Given the description of an element on the screen output the (x, y) to click on. 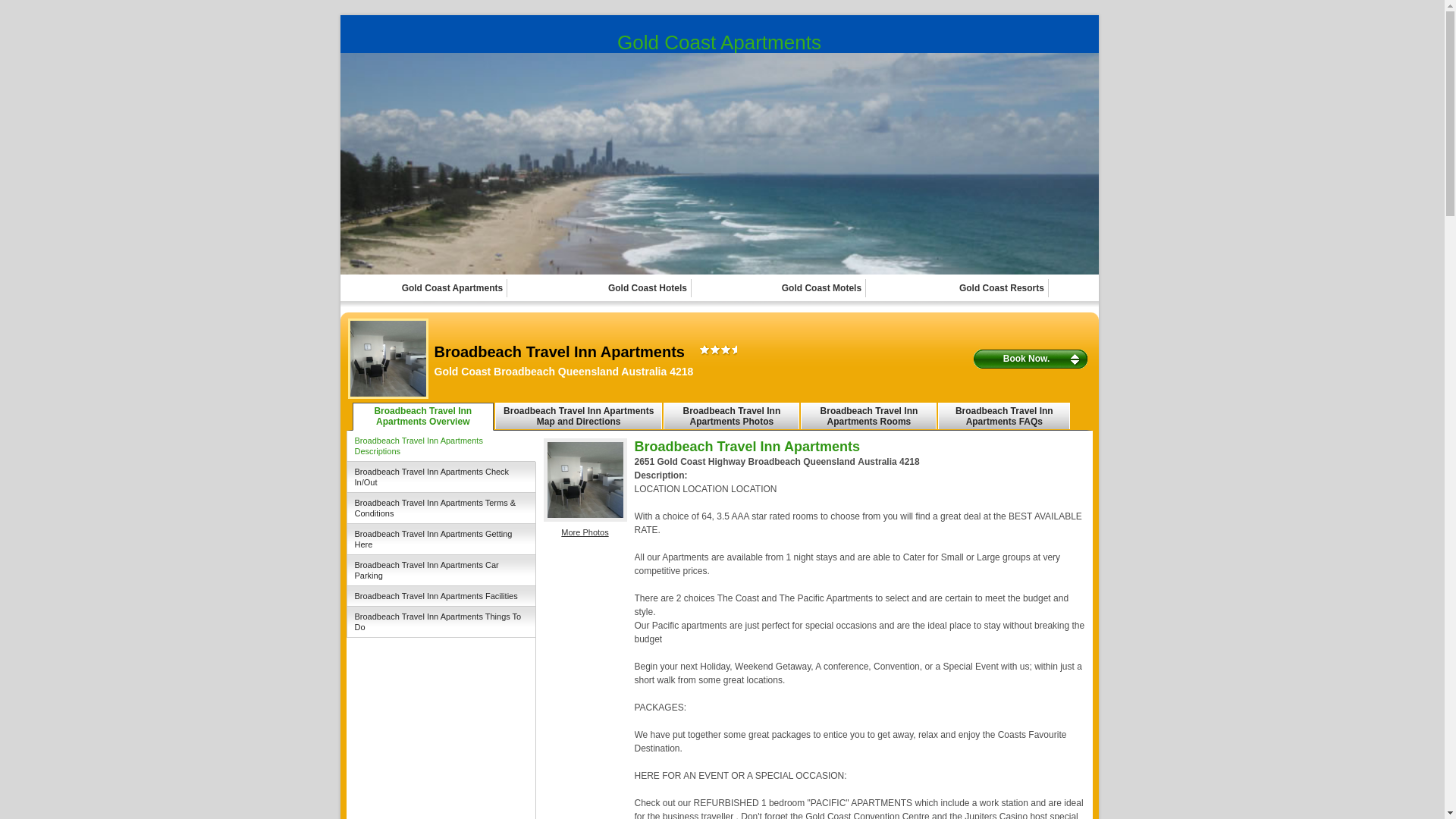
Gold Coast Apartments Element type: text (719, 42)
Broadbeach Travel Inn Apartments Facilities Element type: text (441, 596)
Broadbeach Travel Inn Apartments  Element type: hover (387, 358)
More Photos Element type: text (584, 531)
Broadbeach Travel Inn Apartments Photos Element type: text (731, 415)
Gold Coast Hotels Element type: text (647, 288)
Broadbeach Travel Inn Apartments Terms & Conditions Element type: text (441, 508)
Broadbeach Travel Inn Apartments Map and Directions Element type: text (578, 415)
Gold Coast Element type: hover (718, 163)
Broadbeach Travel Inn Apartments Check In/Out Element type: text (441, 476)
Broadbeach Travel Inn Apartments Rooms Element type: text (868, 415)
Gold Coast Resorts Element type: text (1001, 288)
Broadbeach Travel Inn Apartments Getting Here Element type: text (441, 539)
Broadbeach Travel Inn Apartments Things To Do Element type: text (441, 621)
Book Now. Element type: text (1030, 358)
Broadbeach Travel Inn Apartments Descriptions Element type: text (441, 445)
Broadbeach Travel Inn Apartments FAQs Element type: text (1004, 415)
Gold Coast Motels Element type: text (822, 288)
Gold Coast Apartments Element type: text (453, 288)
Broadbeach Travel Inn Apartments Overview Element type: text (422, 416)
Broadbeach Travel Inn Apartments Car Parking Element type: text (441, 570)
Broadbeach Travel Inn Apartments Element type: hover (584, 479)
